Given the description of an element on the screen output the (x, y) to click on. 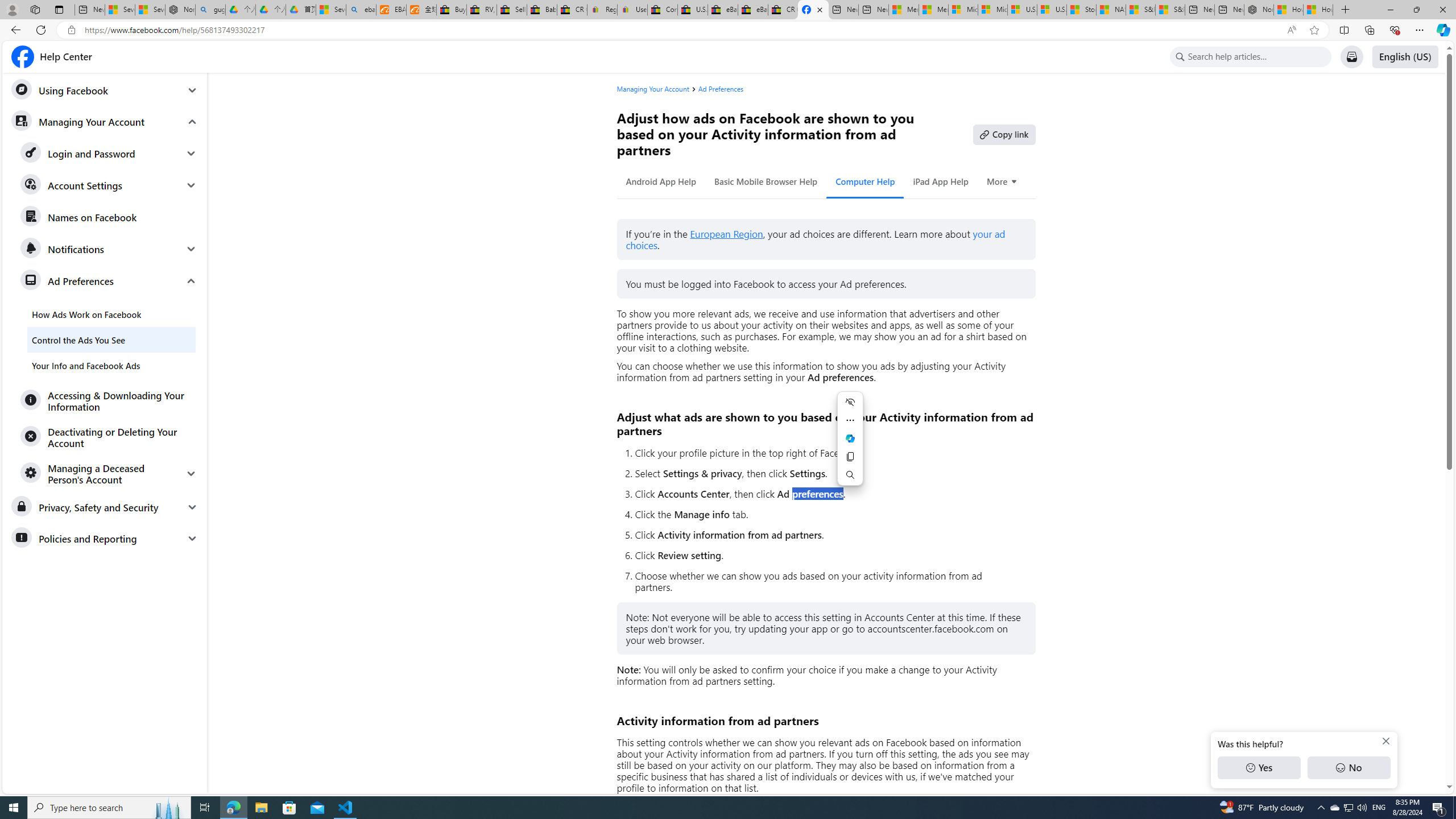
Facebook Help Center (51, 56)
Yes (1258, 767)
No (1348, 767)
Notifications Expand (109, 249)
Class: x19dipnz x1lliihq x1tzjh5l x1k90msu x2h7rmj x1qfuztq (1179, 56)
